Given the description of an element on the screen output the (x, y) to click on. 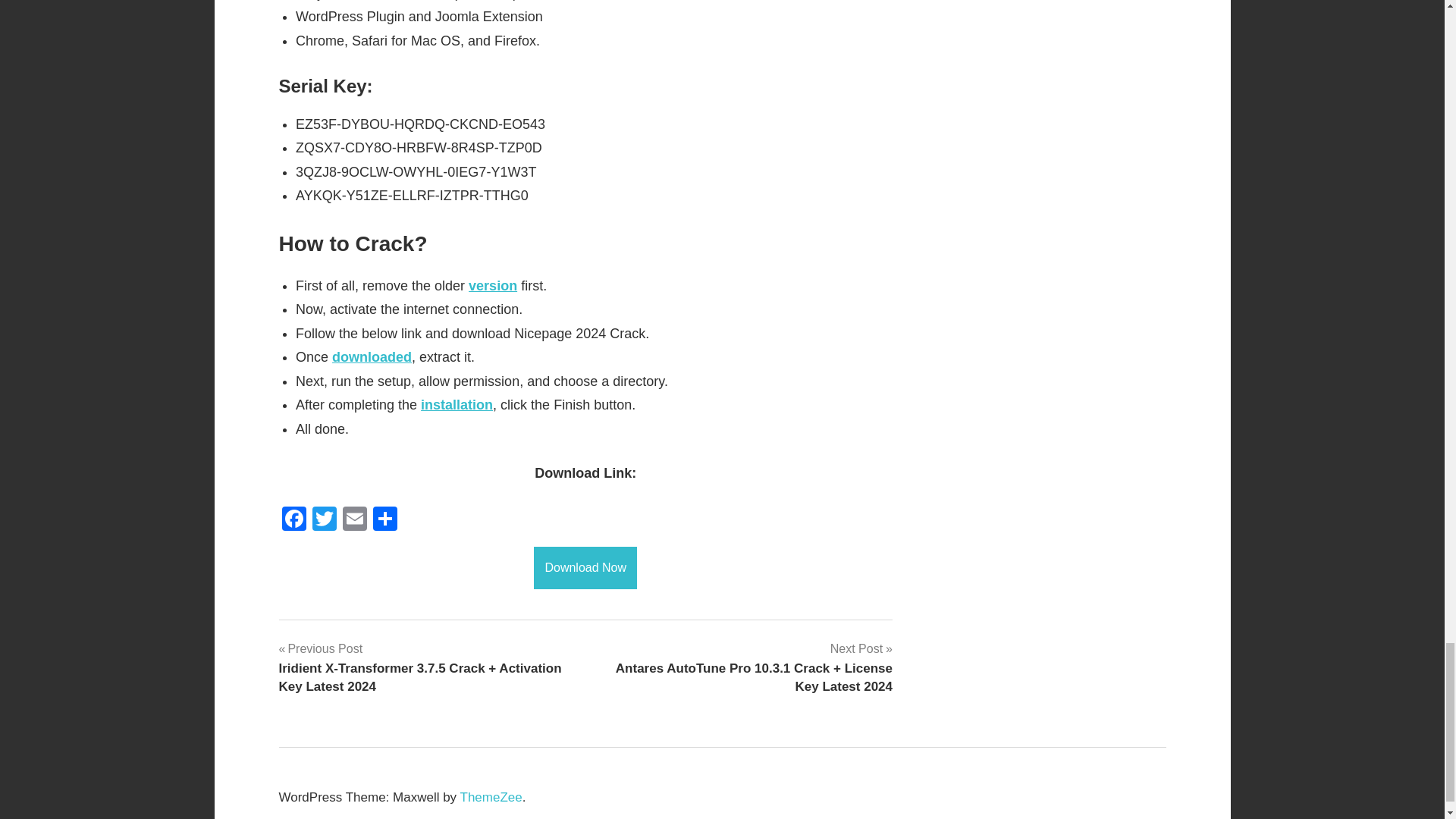
Twitter (323, 520)
Facebook (293, 520)
ThemeZee (491, 797)
version (492, 285)
downloaded (371, 356)
Download Now (585, 567)
Facebook (293, 520)
Email (354, 520)
Email (354, 520)
Twitter (323, 520)
installation (456, 404)
Download Now (585, 566)
